Given the description of an element on the screen output the (x, y) to click on. 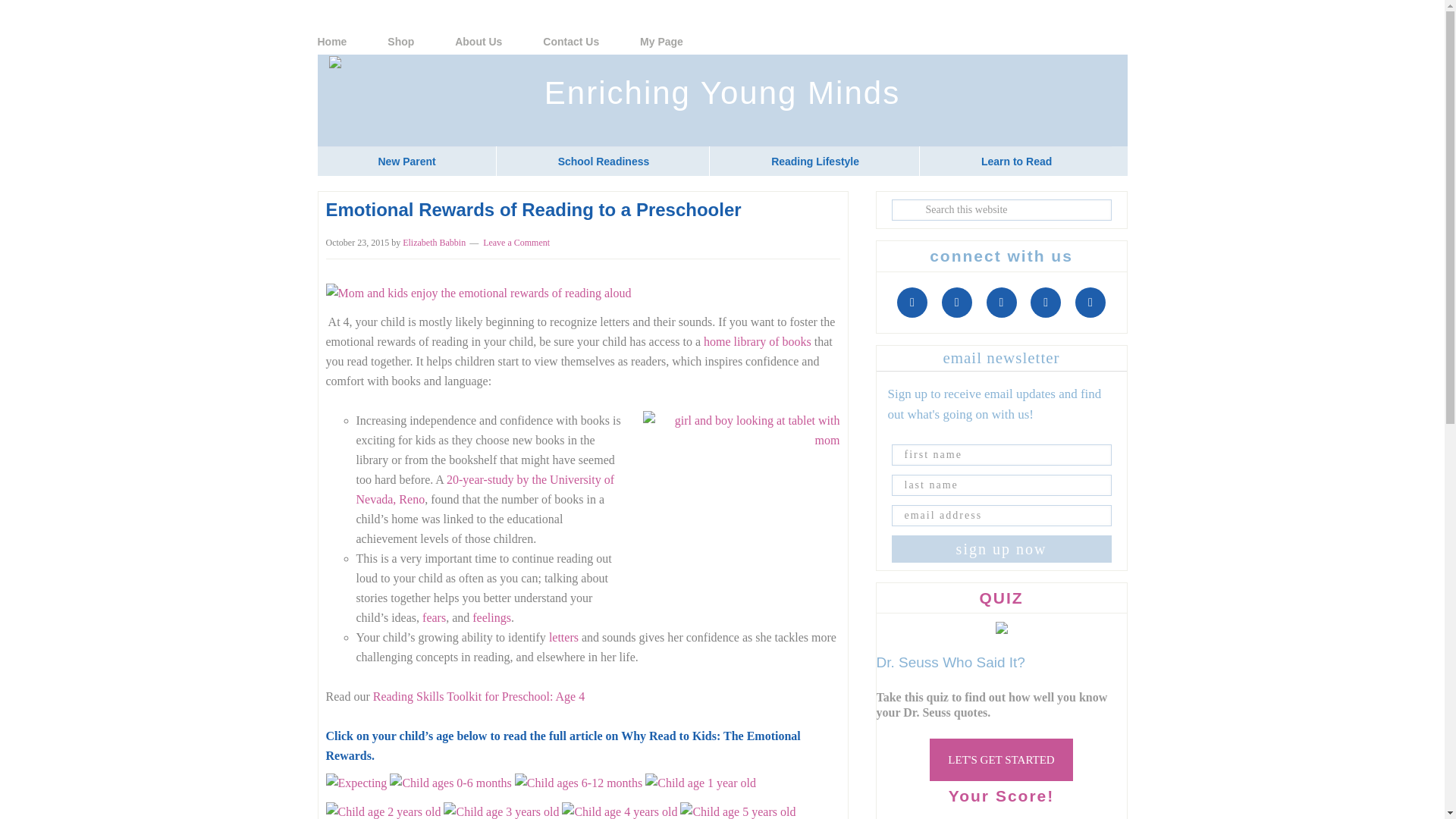
Leave a Comment (516, 242)
Search (1121, 202)
Mom and kids enjoy the emotional rewards of reading aloud (478, 293)
Search (1121, 202)
School Readiness (603, 161)
20-year-study by the University of Nevada, Reno (485, 489)
Contact Us (590, 40)
Elizabeth Babbin (434, 242)
Reading Lifestyle (814, 161)
home library of books (756, 341)
